Given the description of an element on the screen output the (x, y) to click on. 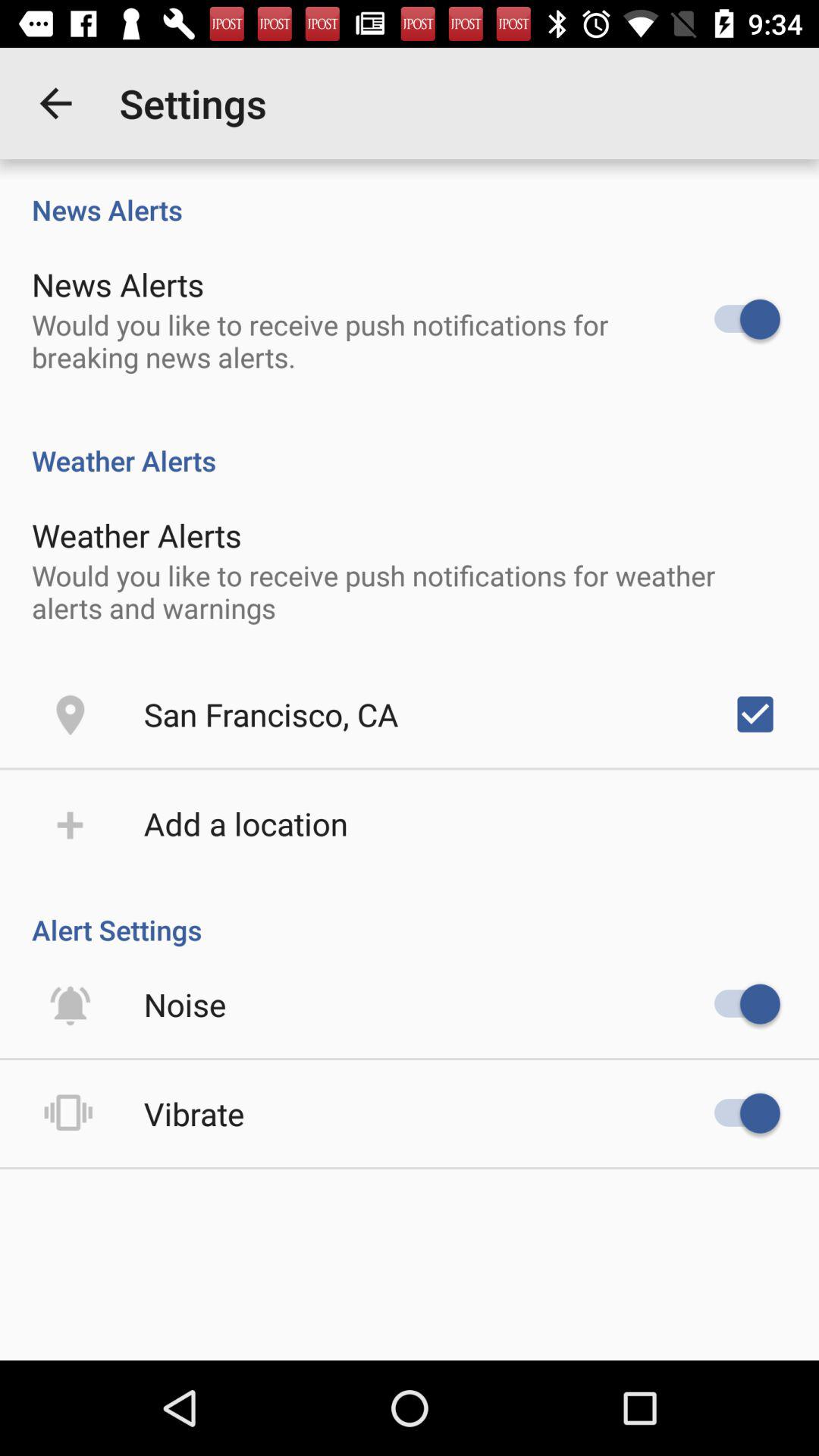
tap item on the right (755, 714)
